Given the description of an element on the screen output the (x, y) to click on. 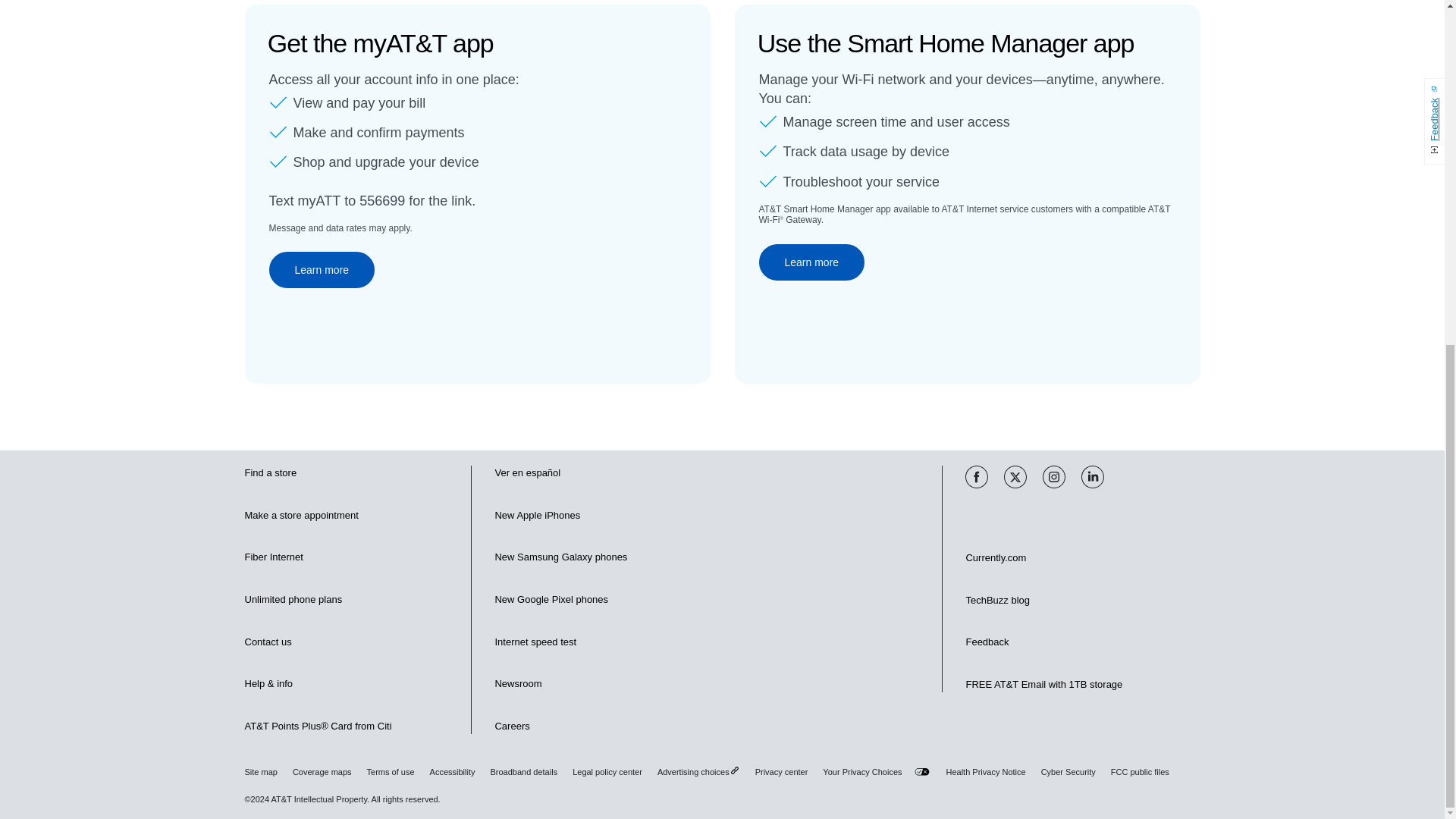
Learn more (811, 262)
Find a store (270, 473)
Learn more (320, 269)
